Given the description of an element on the screen output the (x, y) to click on. 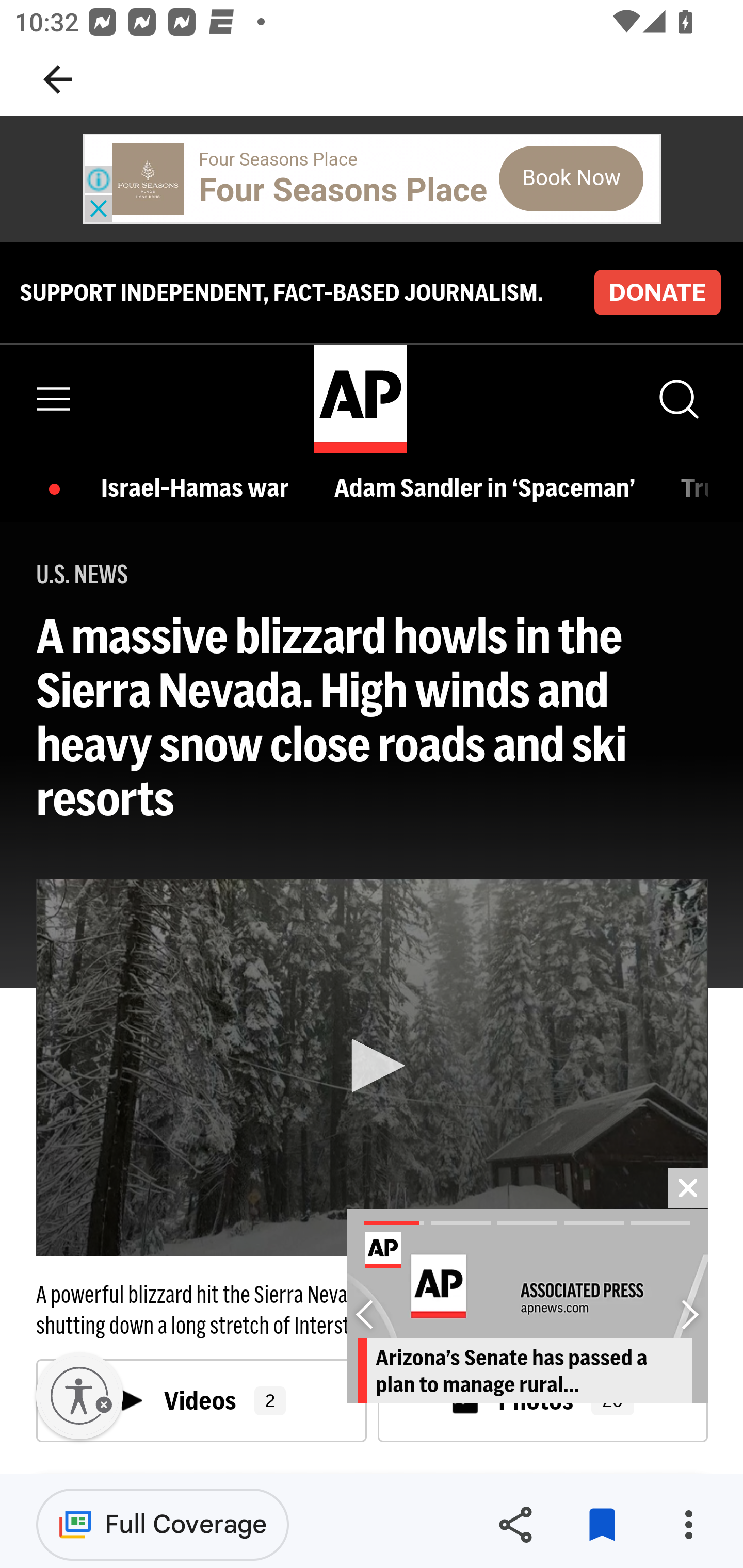
Navigate up (57, 79)
Book Now (571, 178)
Four Seasons Place (278, 158)
Four Seasons Place (342, 190)
DONATE (657, 291)
home page AP Logo (359, 398)
Menu (54, 398)
Show Search (677, 398)
Israel-Hamas war (200, 487)
Adam Sandler in ‘Spaceman’ (489, 487)
U.S. NEWS (83, 574)
Play (372, 1066)
Enable accessibility (79, 1395)
Share (514, 1524)
Remove from saved stories (601, 1524)
More options (688, 1524)
Full Coverage (162, 1524)
